Given the description of an element on the screen output the (x, y) to click on. 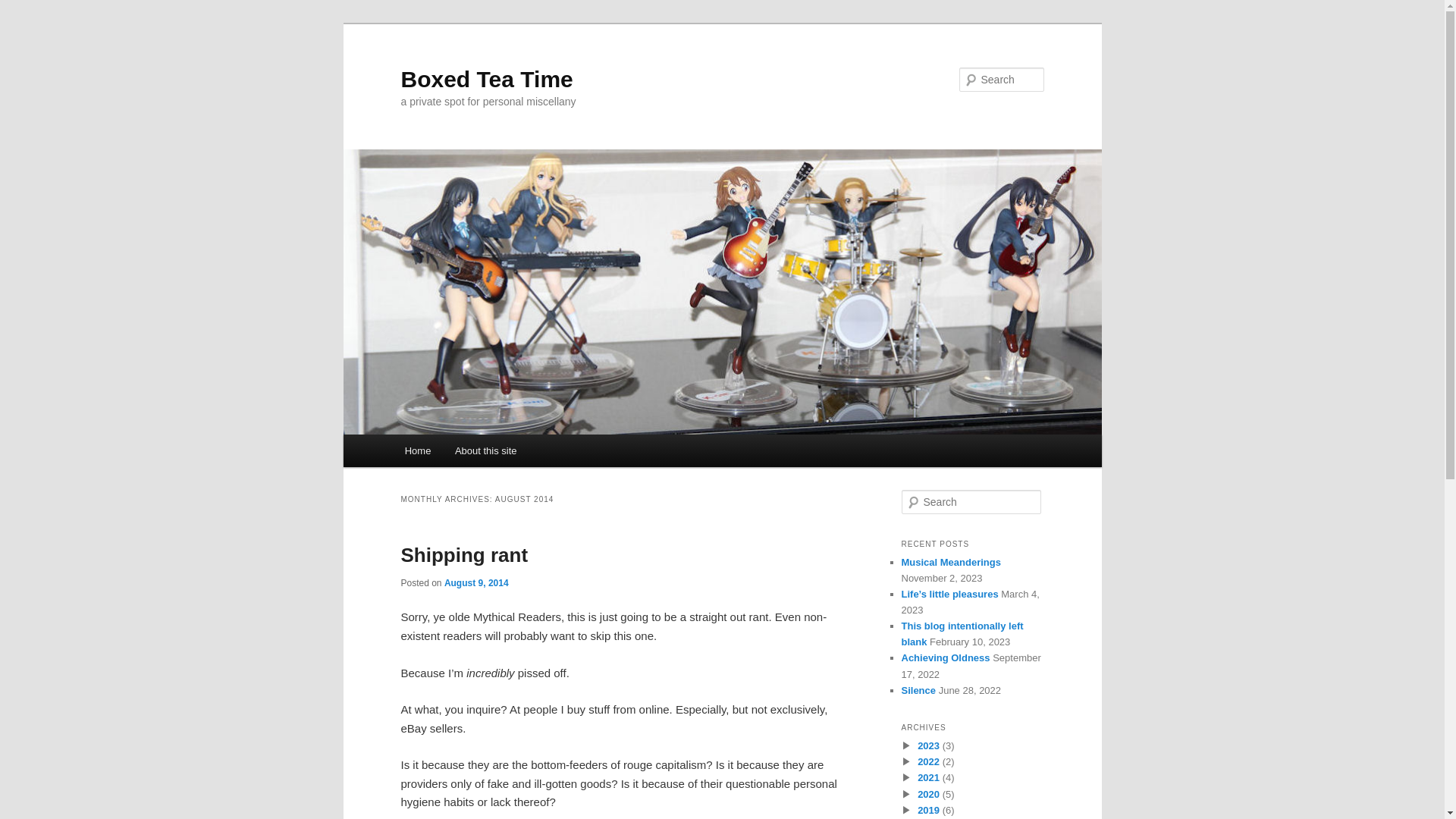
2021 (928, 777)
2020 (928, 794)
Musical Meanderings (950, 562)
2023 (928, 745)
August 9, 2014 (476, 583)
2:35 AM (476, 583)
Boxed Tea Time (486, 78)
2019 (928, 809)
Search (24, 8)
About this site (485, 450)
